Given the description of an element on the screen output the (x, y) to click on. 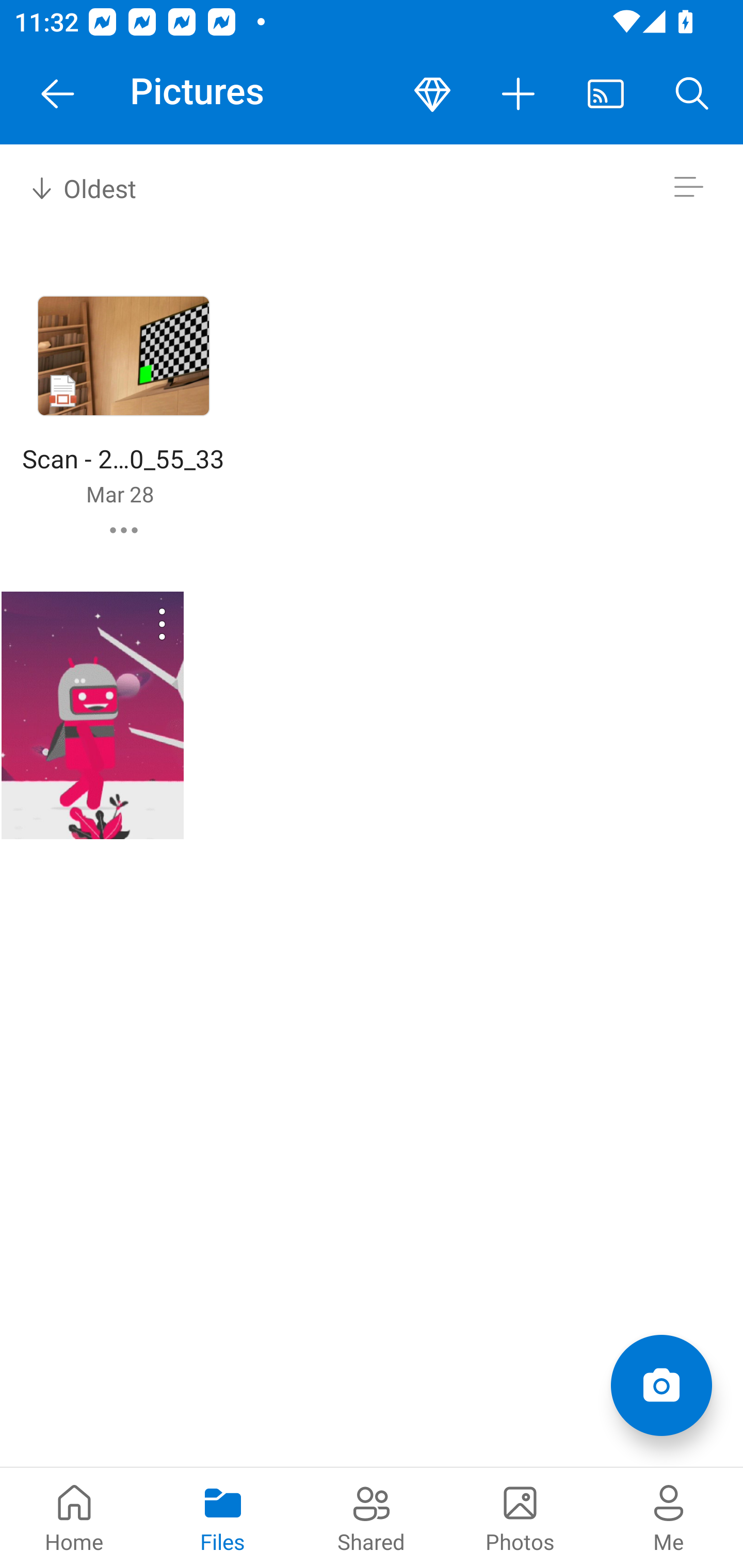
Navigate Up (57, 93)
Cast. Disconnected (605, 93)
Premium button (432, 93)
More actions button (518, 93)
Search button (692, 93)
Oldest Sort by combo box, sort by oldest (80, 187)
Switch to list view (688, 187)
Mar 28 (120, 493)
Scan - 2024-03-28 10_55_33 commands (123, 529)
IMG_20240428_112323 commands (136, 623)
Add items Scan (660, 1385)
Home pivot Home (74, 1517)
Shared pivot Shared (371, 1517)
Photos pivot Photos (519, 1517)
Me pivot Me (668, 1517)
